Given the description of an element on the screen output the (x, y) to click on. 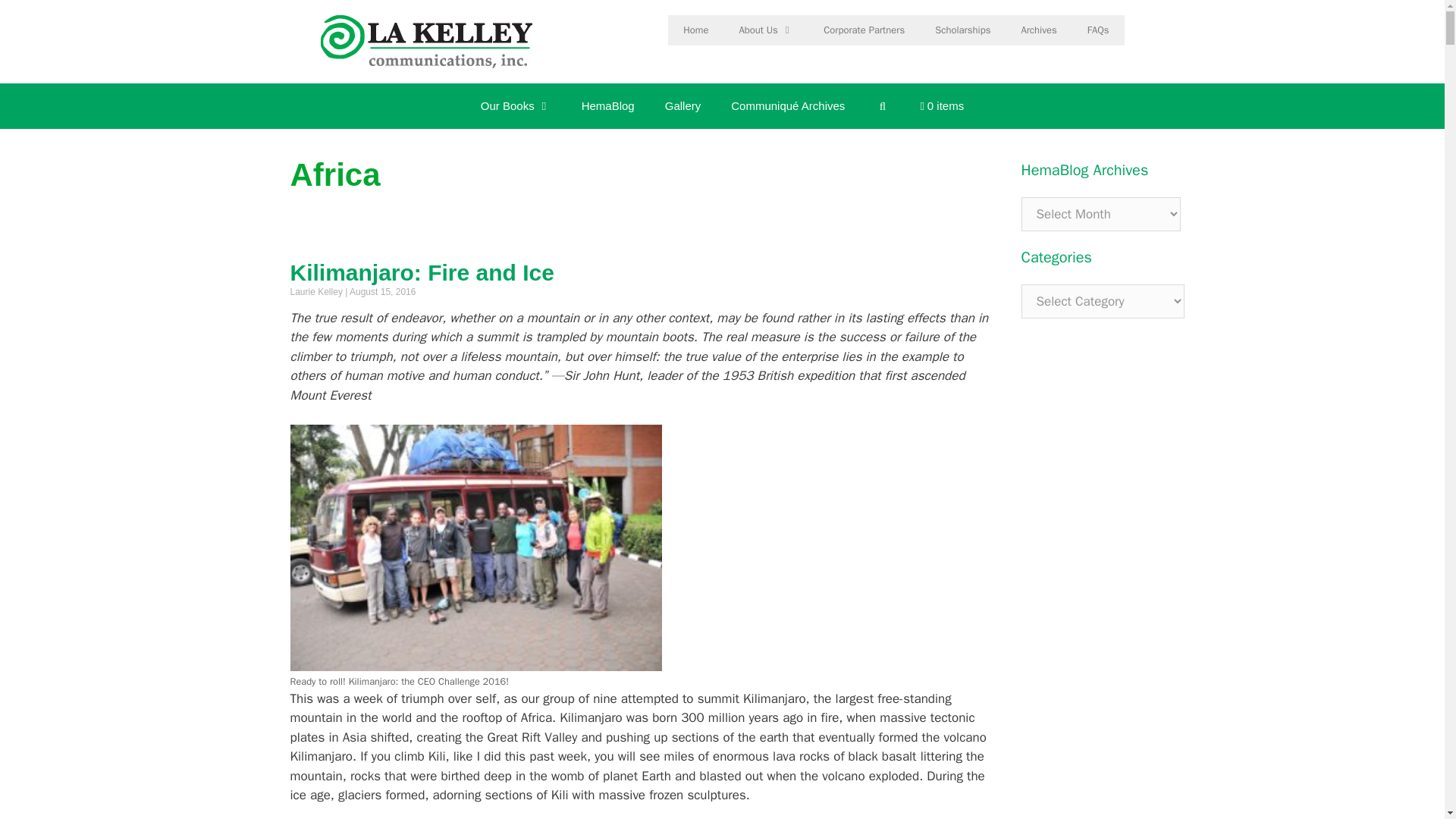
Scholarships (963, 30)
Start shopping (942, 105)
Archives (1038, 30)
About Us (765, 30)
FAQs (1097, 30)
Our Books (515, 105)
Corporate Partners (864, 30)
Home (695, 30)
